Given the description of an element on the screen output the (x, y) to click on. 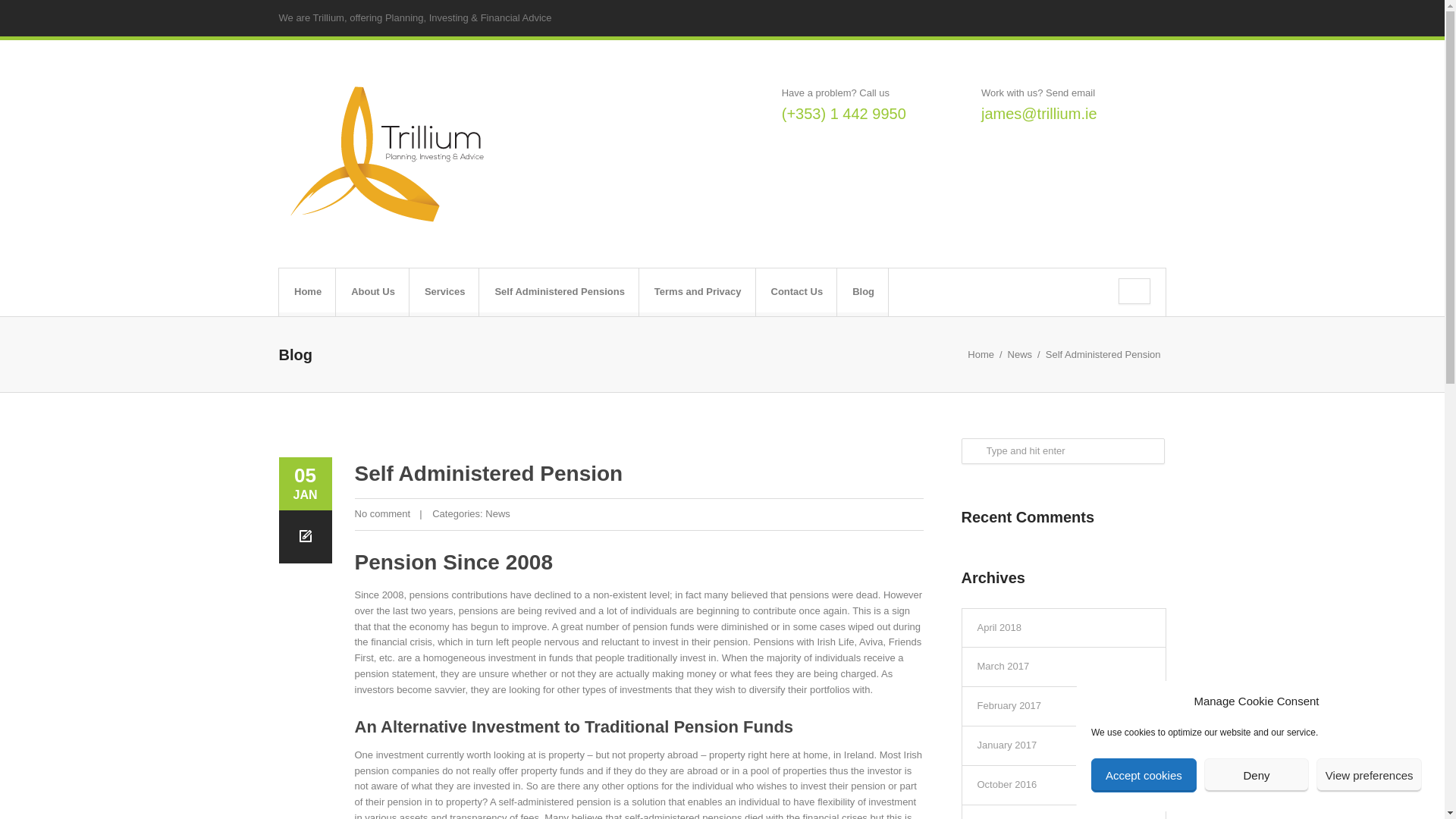
No comment (382, 513)
Services (452, 292)
Deny (1256, 775)
About Us (379, 292)
Terms and Privacy (704, 292)
Self Administered Pensions (566, 292)
Accept cookies (1143, 775)
View preferences (1369, 775)
Contact Us (804, 292)
